Given the description of an element on the screen output the (x, y) to click on. 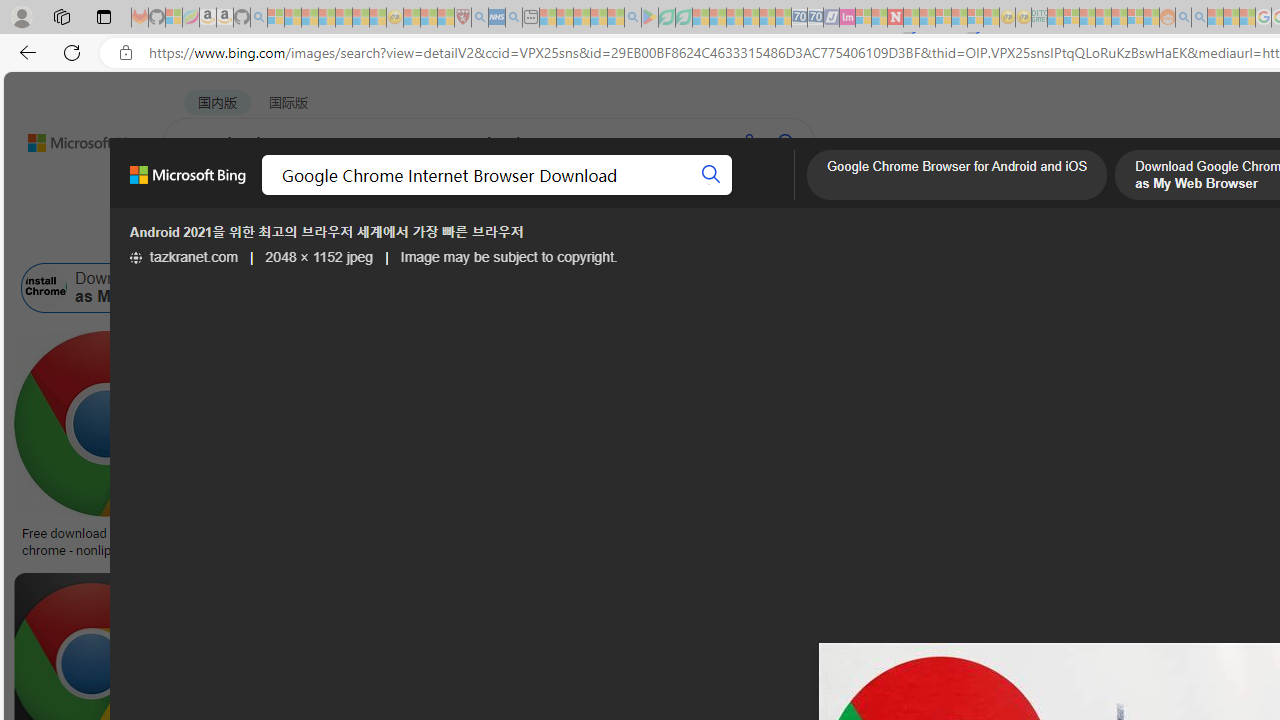
Search button (712, 174)
Google Chrome Website Download (317, 287)
Google Chrome Website Download (401, 287)
